Given the description of an element on the screen output the (x, y) to click on. 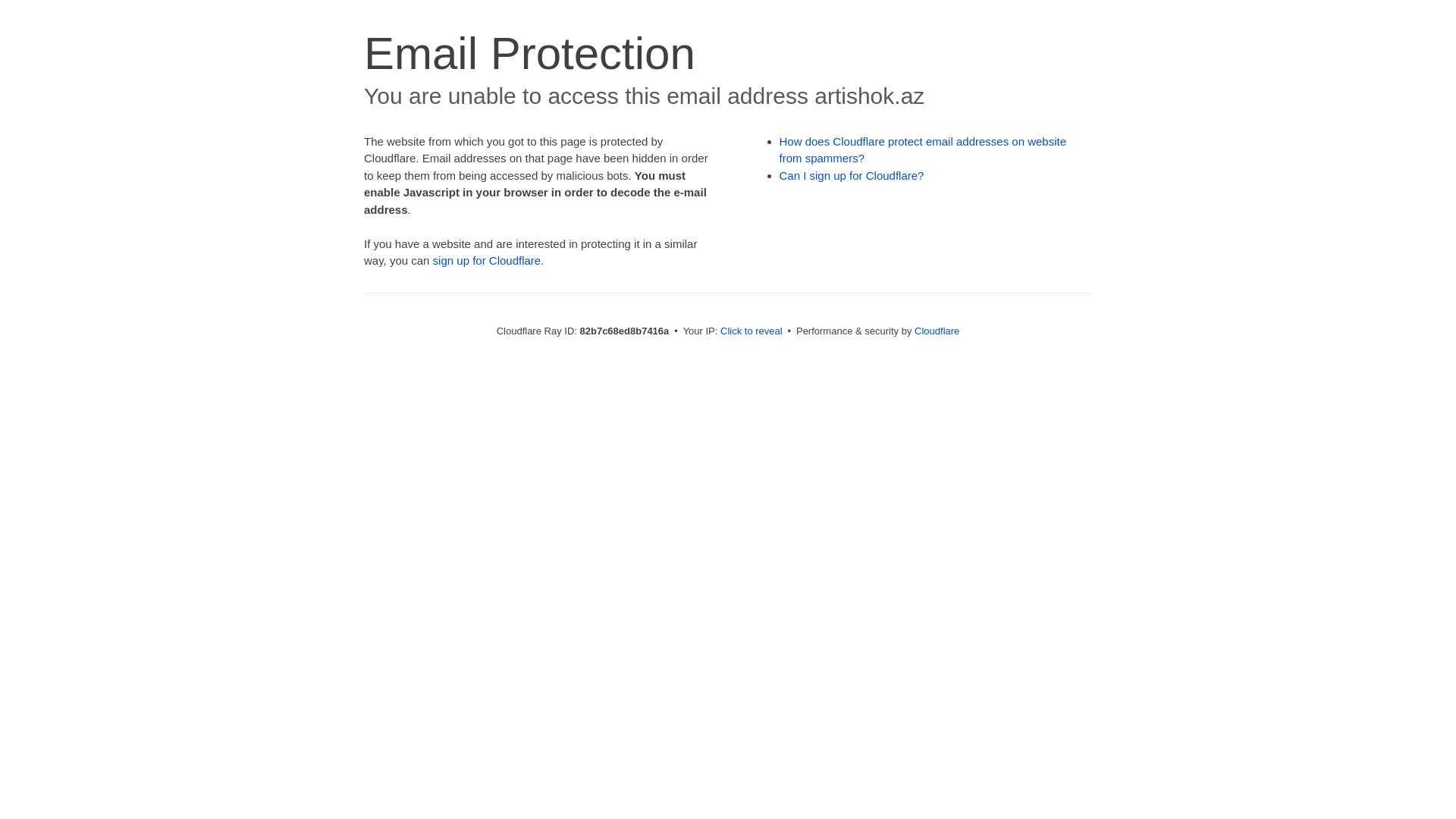
Cloudflare Element type: text (936, 330)
sign up for Cloudflare Element type: text (487, 260)
Click to reveal Element type: text (751, 330)
Can I sign up for Cloudflare? Element type: text (851, 175)
